Given the description of an element on the screen output the (x, y) to click on. 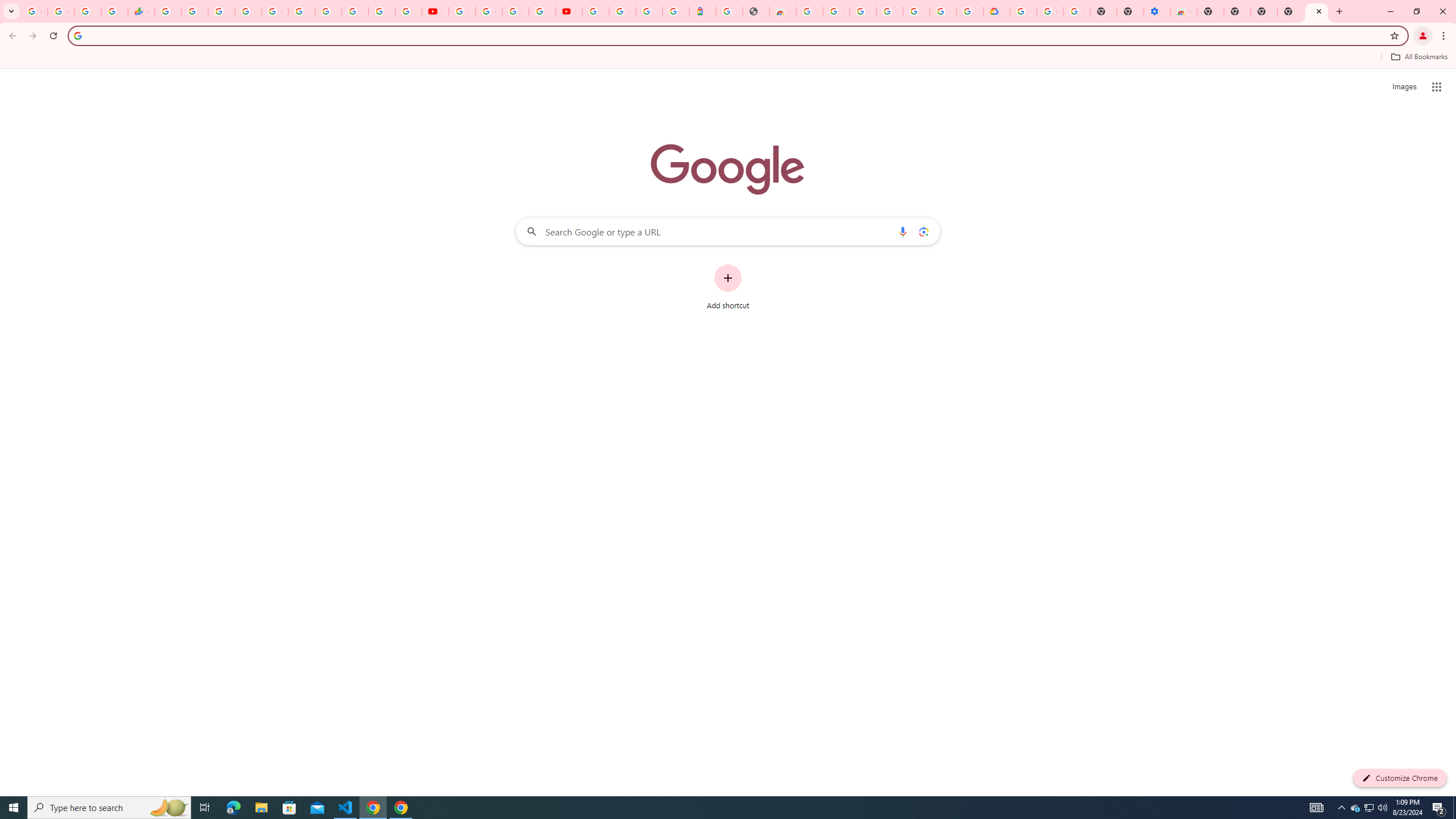
Chrome Web Store - Household (782, 11)
Google Workspace Admin Community (34, 11)
Turn cookies on or off - Computer - Google Account Help (1076, 11)
Settings - Accessibility (1156, 11)
